Given the description of an element on the screen output the (x, y) to click on. 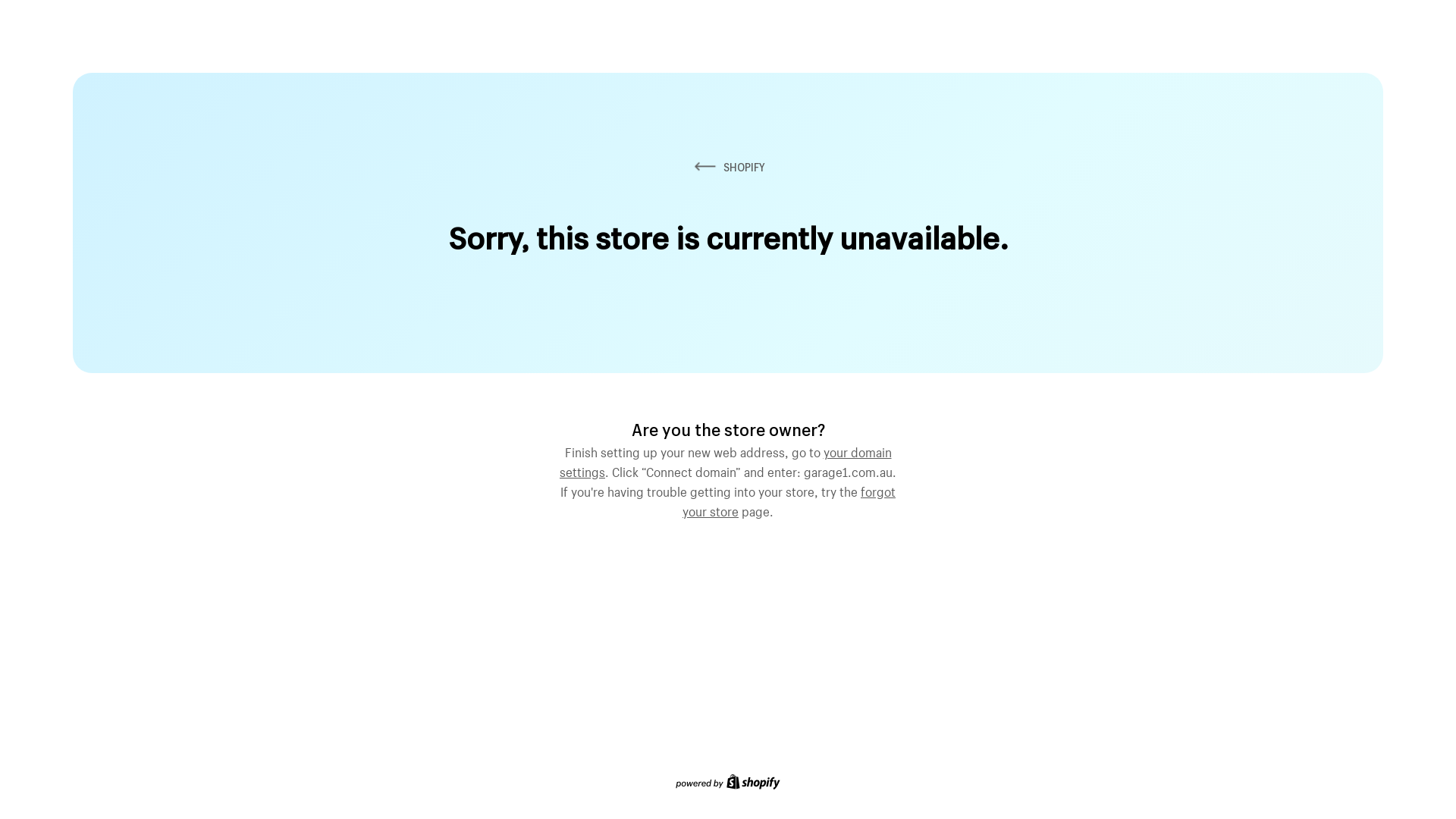
your domain settings Element type: text (725, 460)
SHOPIFY Element type: text (727, 167)
forgot your store Element type: text (788, 499)
